Given the description of an element on the screen output the (x, y) to click on. 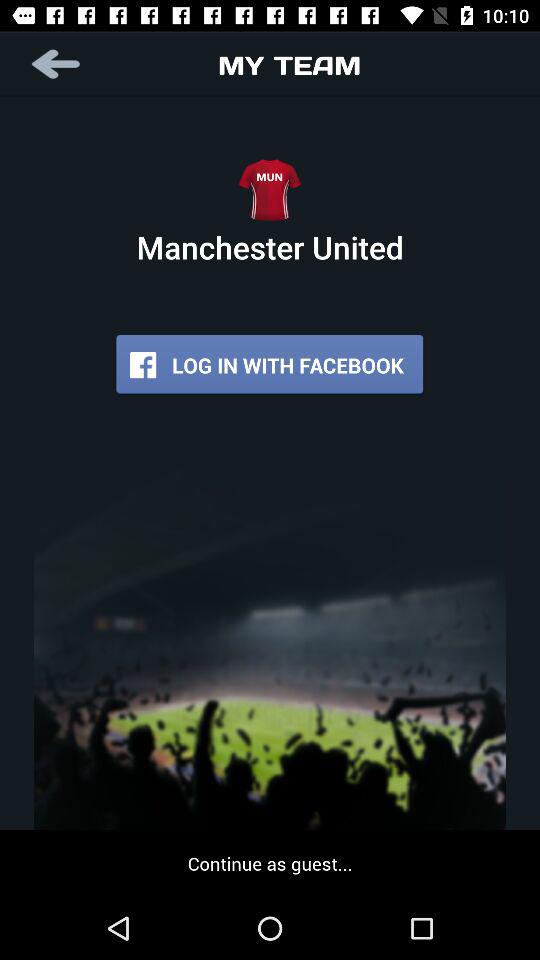
turn off button at the top left corner (57, 63)
